Given the description of an element on the screen output the (x, y) to click on. 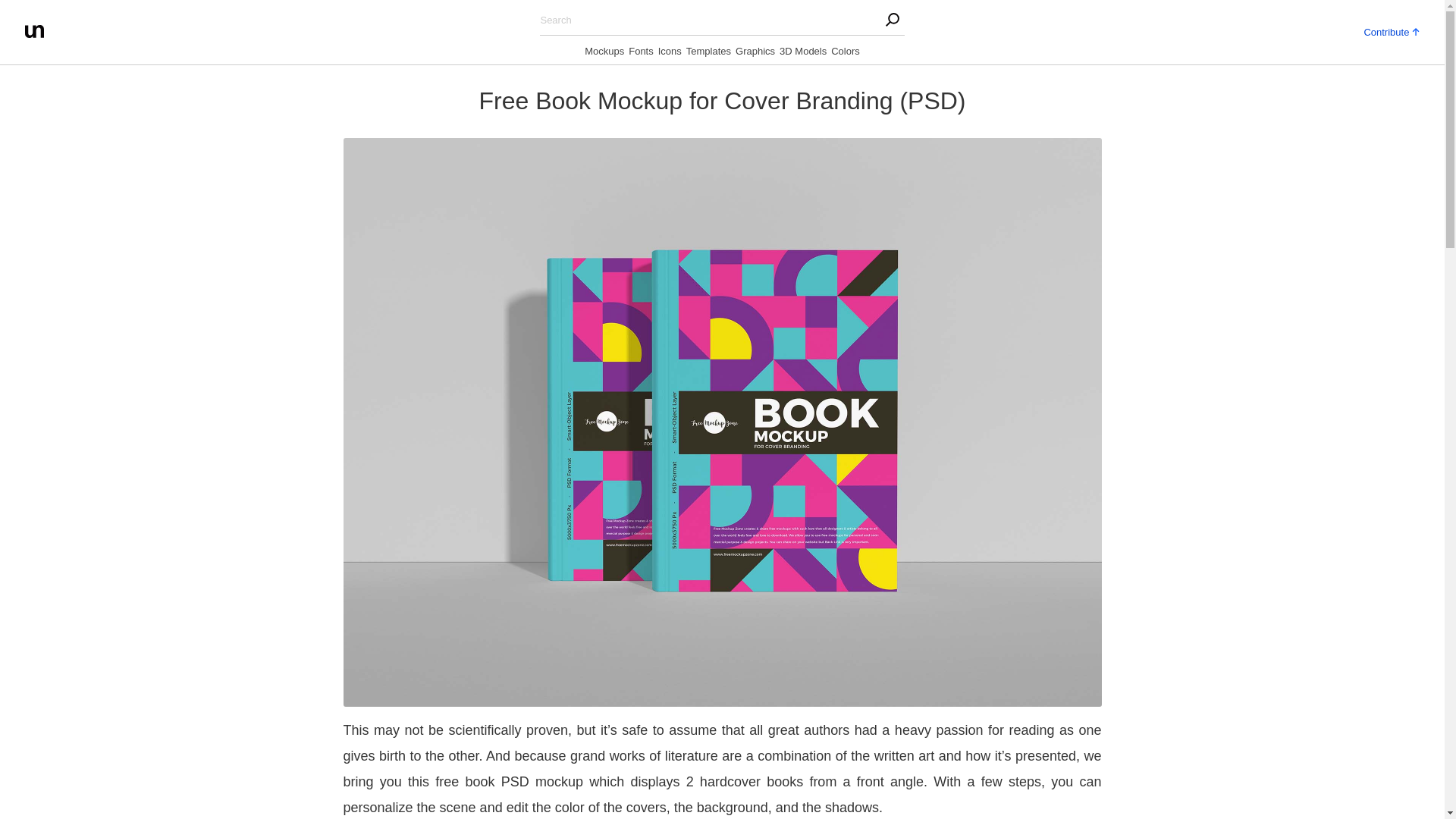
Templates (707, 53)
Graphics (754, 53)
Mockups (604, 53)
Search (303, 15)
Contribute (1390, 30)
Icons (669, 53)
Fonts (640, 53)
3D Models (802, 53)
Colors (845, 53)
